Given the description of an element on the screen output the (x, y) to click on. 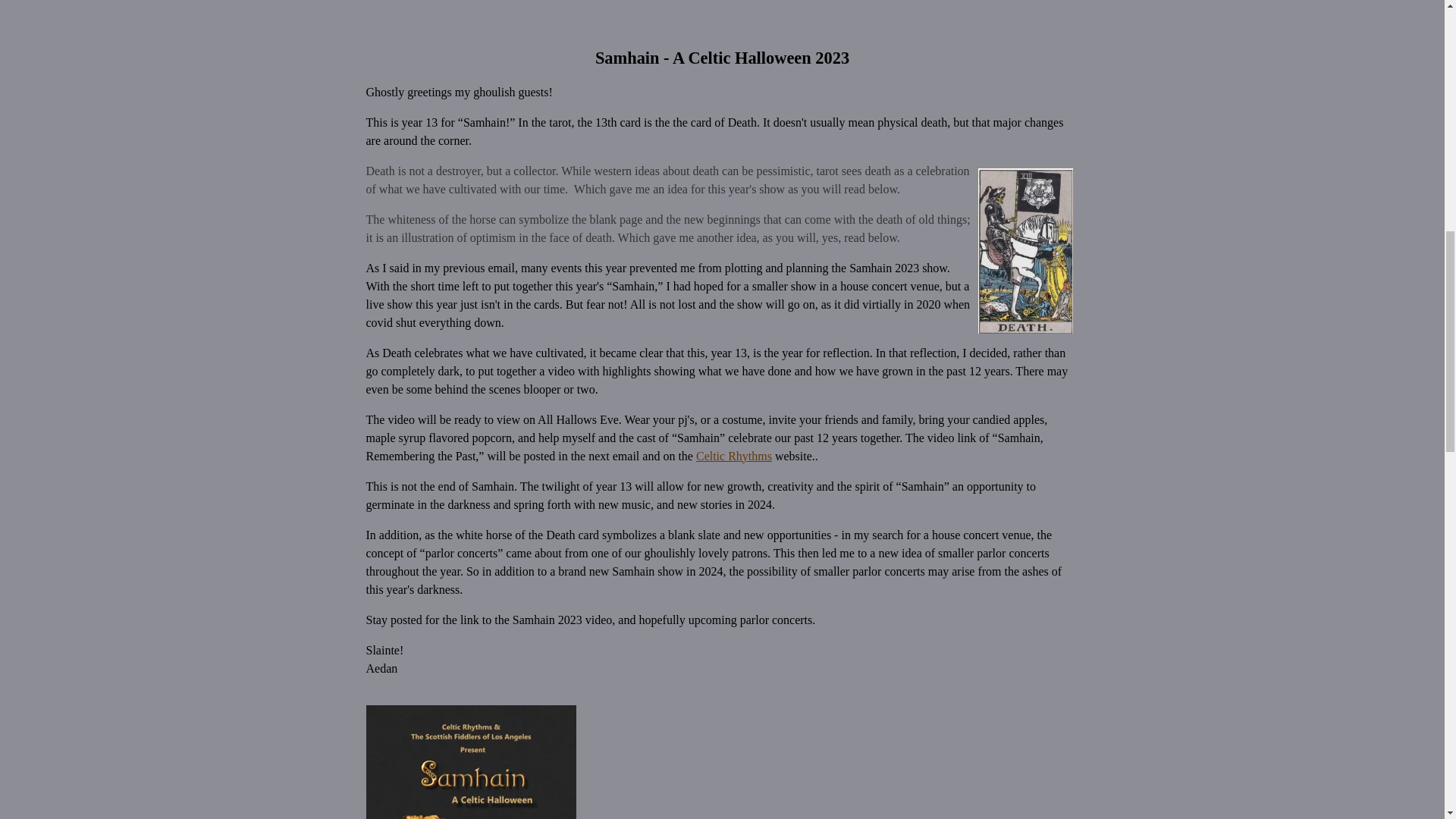
Celtic Rhythms (733, 455)
